Given the description of an element on the screen output the (x, y) to click on. 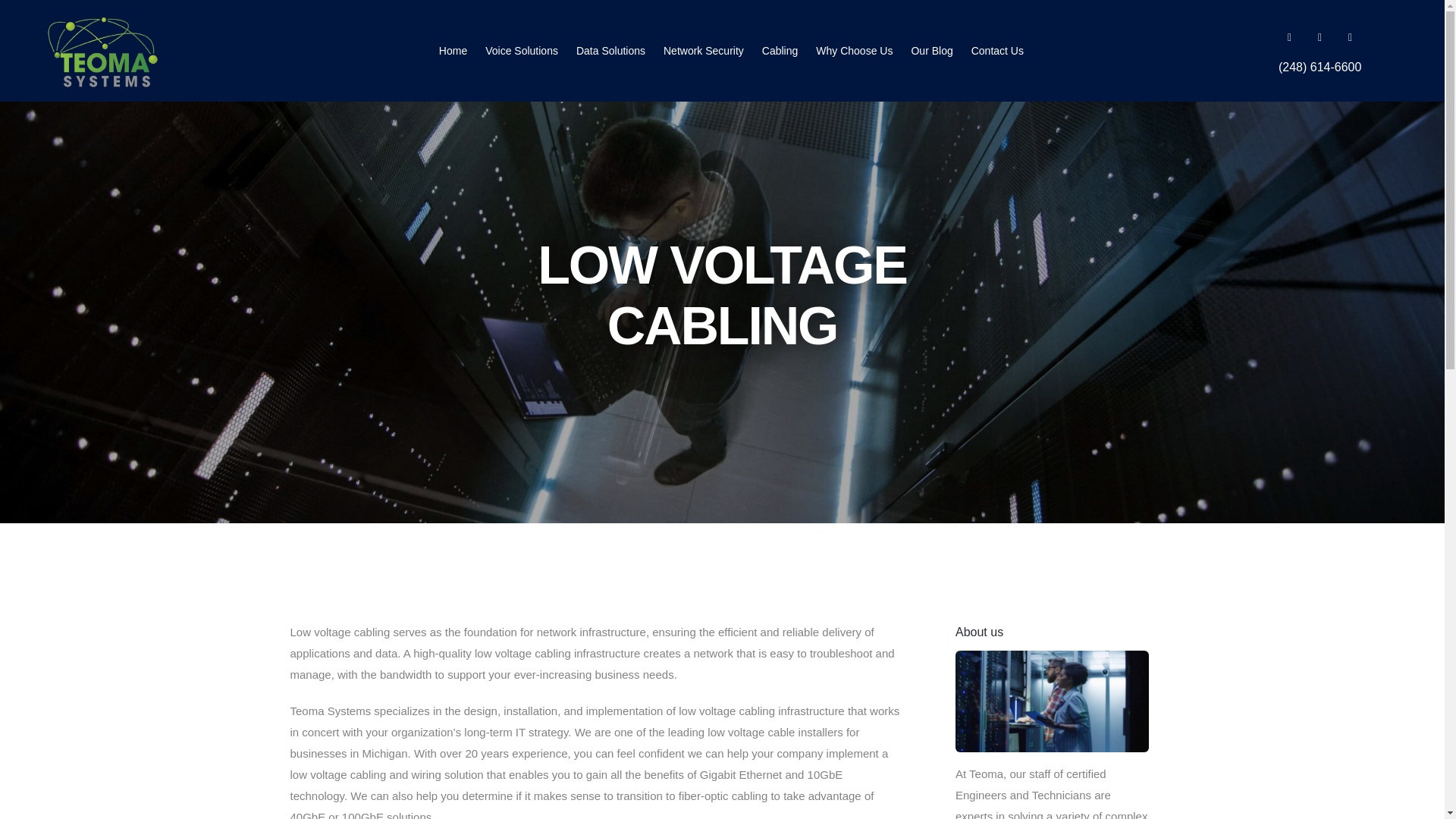
Data Solutions (610, 50)
Our Blog (931, 50)
Network Security (703, 50)
Home (453, 50)
Cabling (779, 50)
Why Choose Us (853, 50)
Contact Us (997, 50)
Voice Solutions (520, 50)
